Given the description of an element on the screen output the (x, y) to click on. 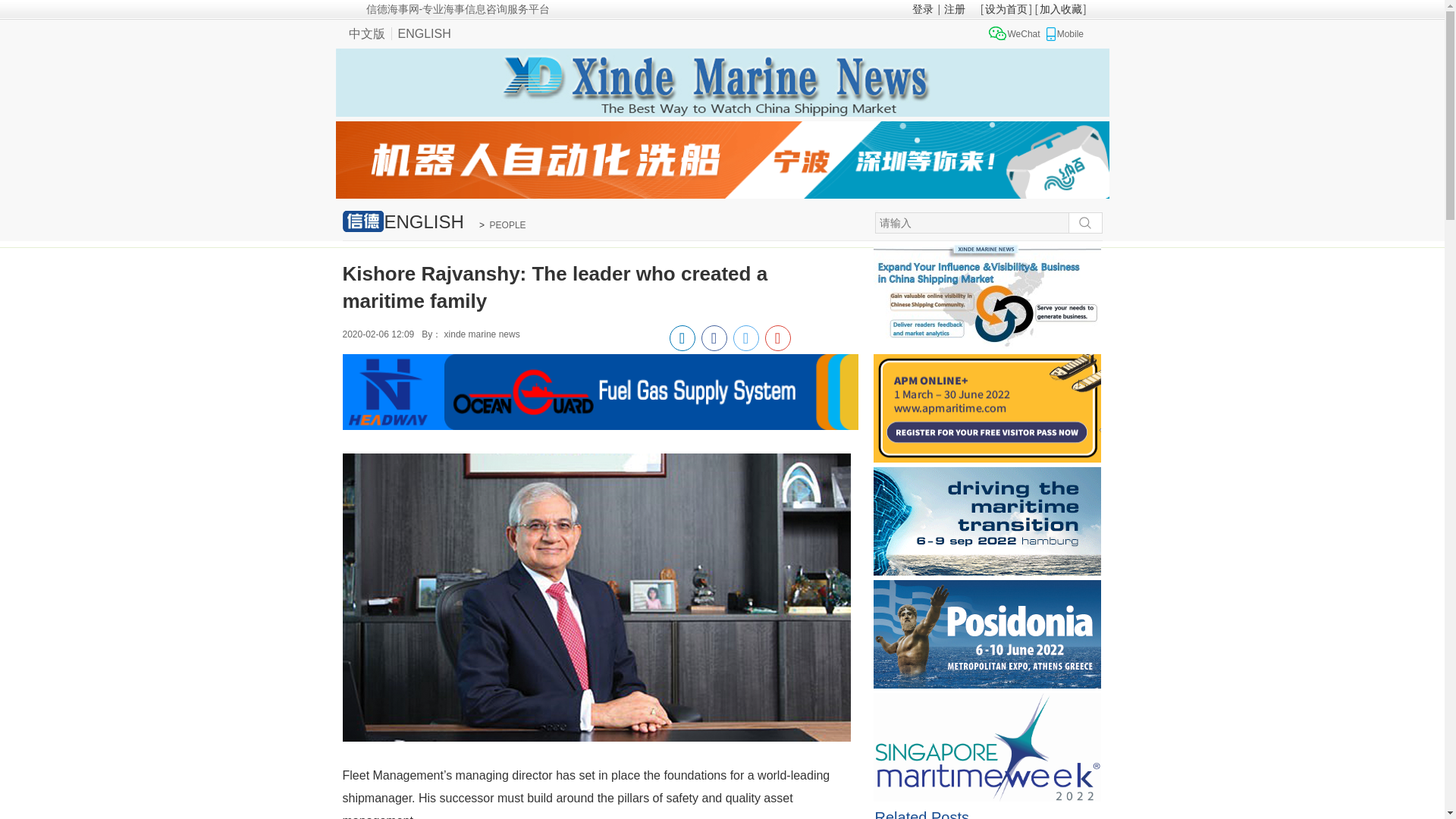
Mobile (1062, 33)
ENGLISH (424, 33)
PEOPLE (507, 225)
WeChat (1014, 33)
ENGLISH (406, 221)
